Given the description of an element on the screen output the (x, y) to click on. 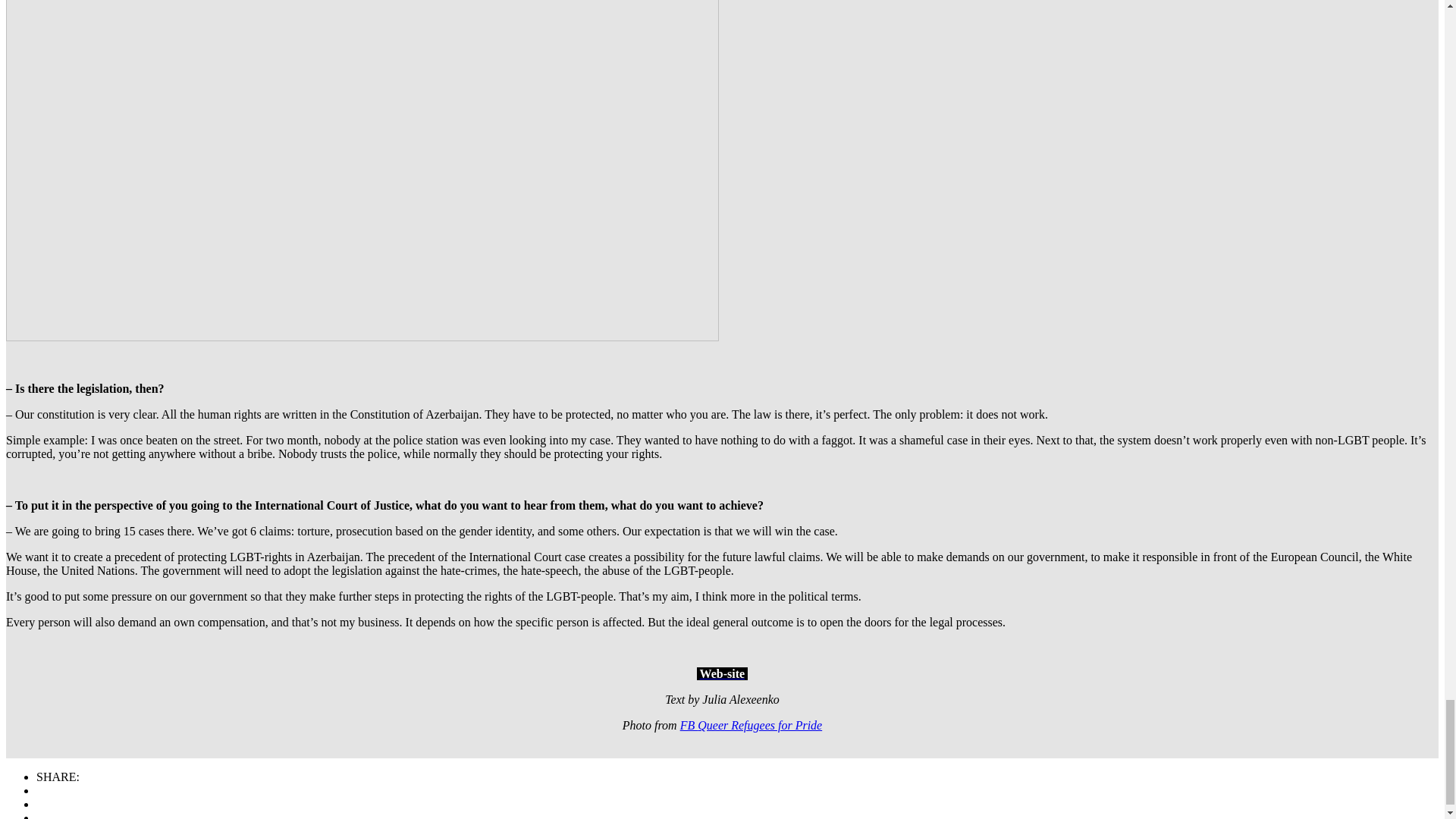
Queer Refugees for Pride (759, 725)
Web-site (722, 673)
FB (688, 725)
